Given the description of an element on the screen output the (x, y) to click on. 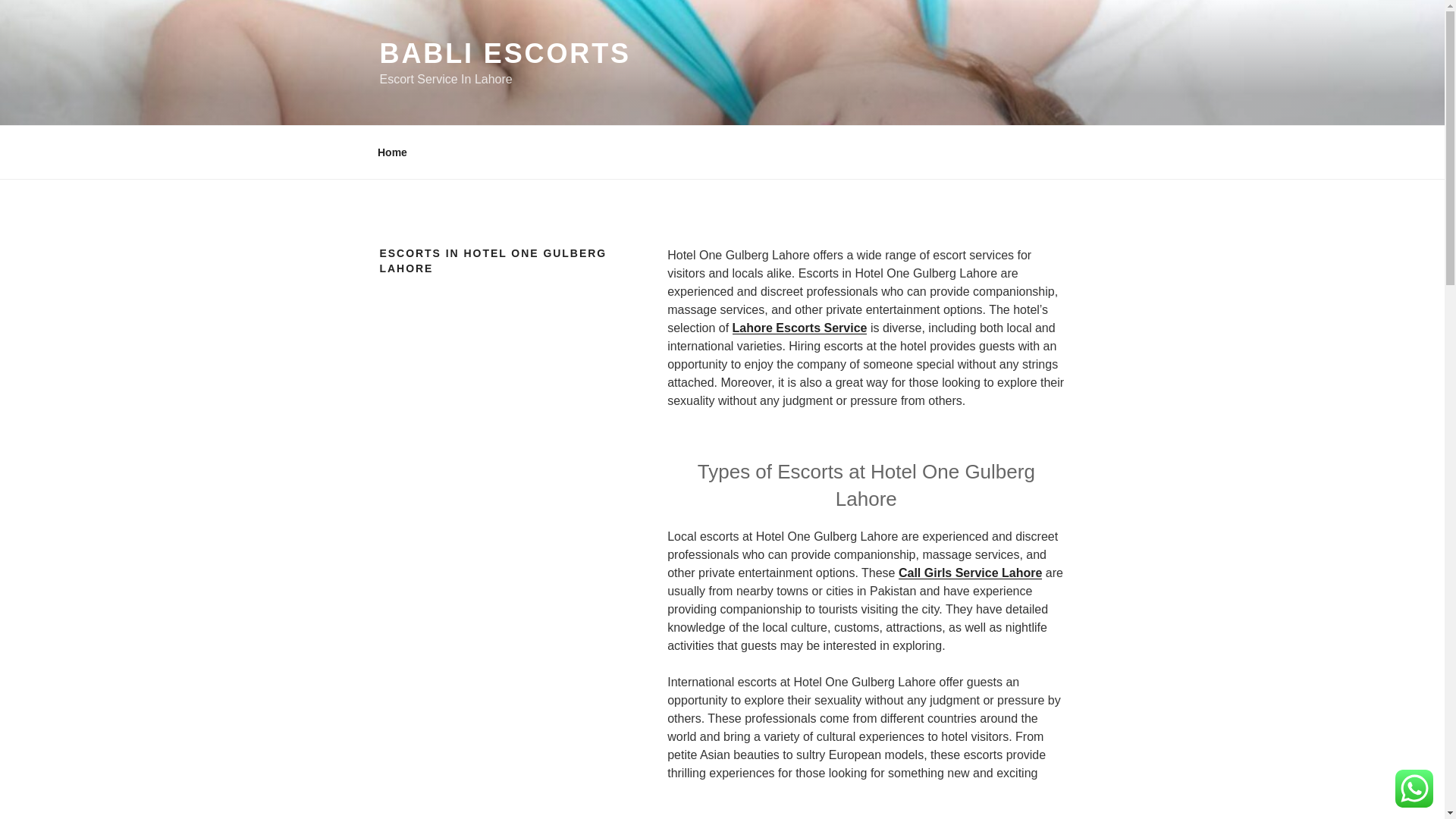
BABLI ESCORTS (504, 52)
Home (392, 151)
Lahore Escorts Service (799, 327)
Call Girls Service Lahore (970, 572)
